Given the description of an element on the screen output the (x, y) to click on. 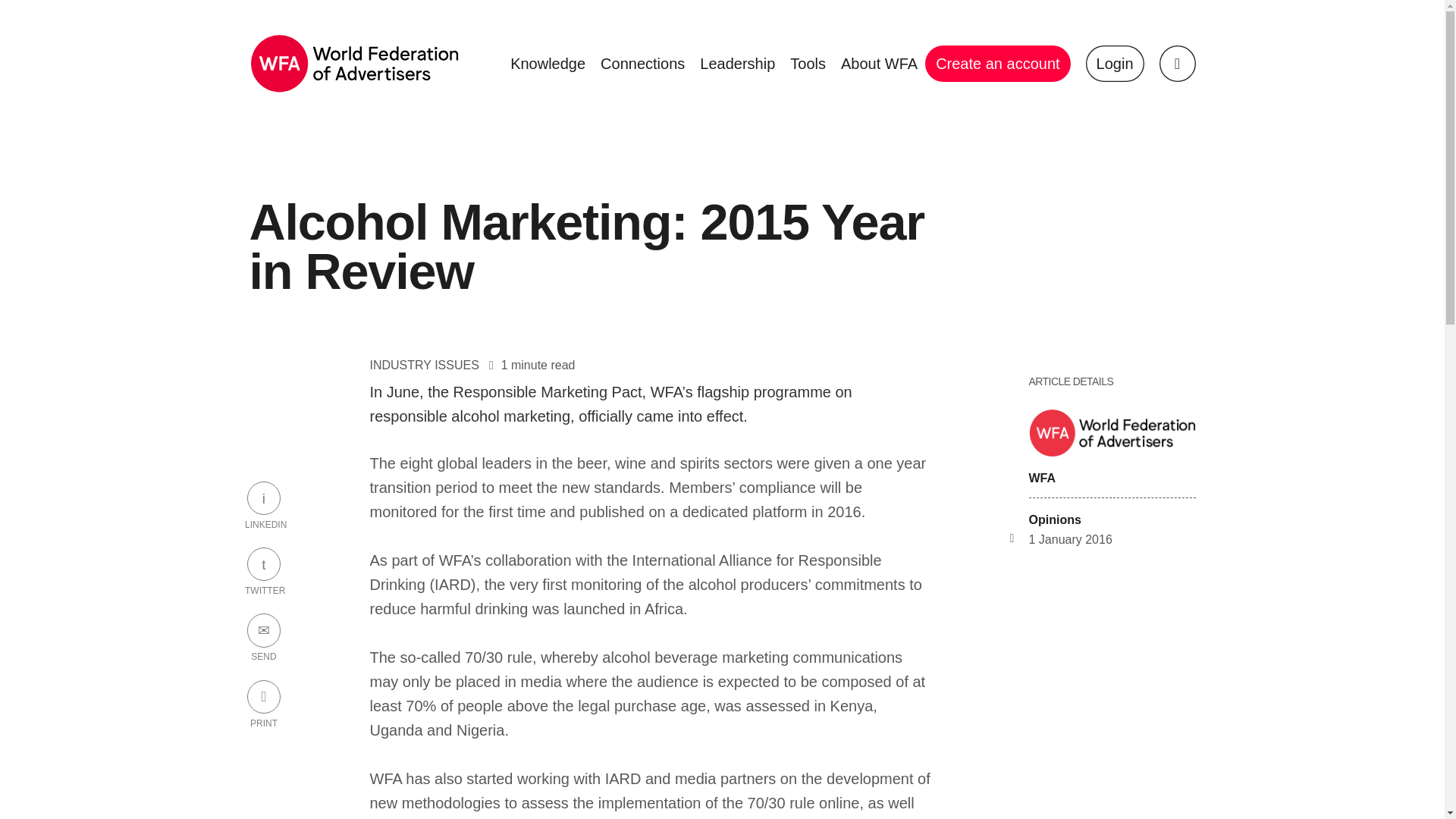
Log in (1115, 63)
Connections (642, 63)
About WFA (878, 63)
Tools (807, 63)
Leadership (738, 63)
Knowledge (547, 63)
Toggle Search popup (1176, 63)
